Given the description of an element on the screen output the (x, y) to click on. 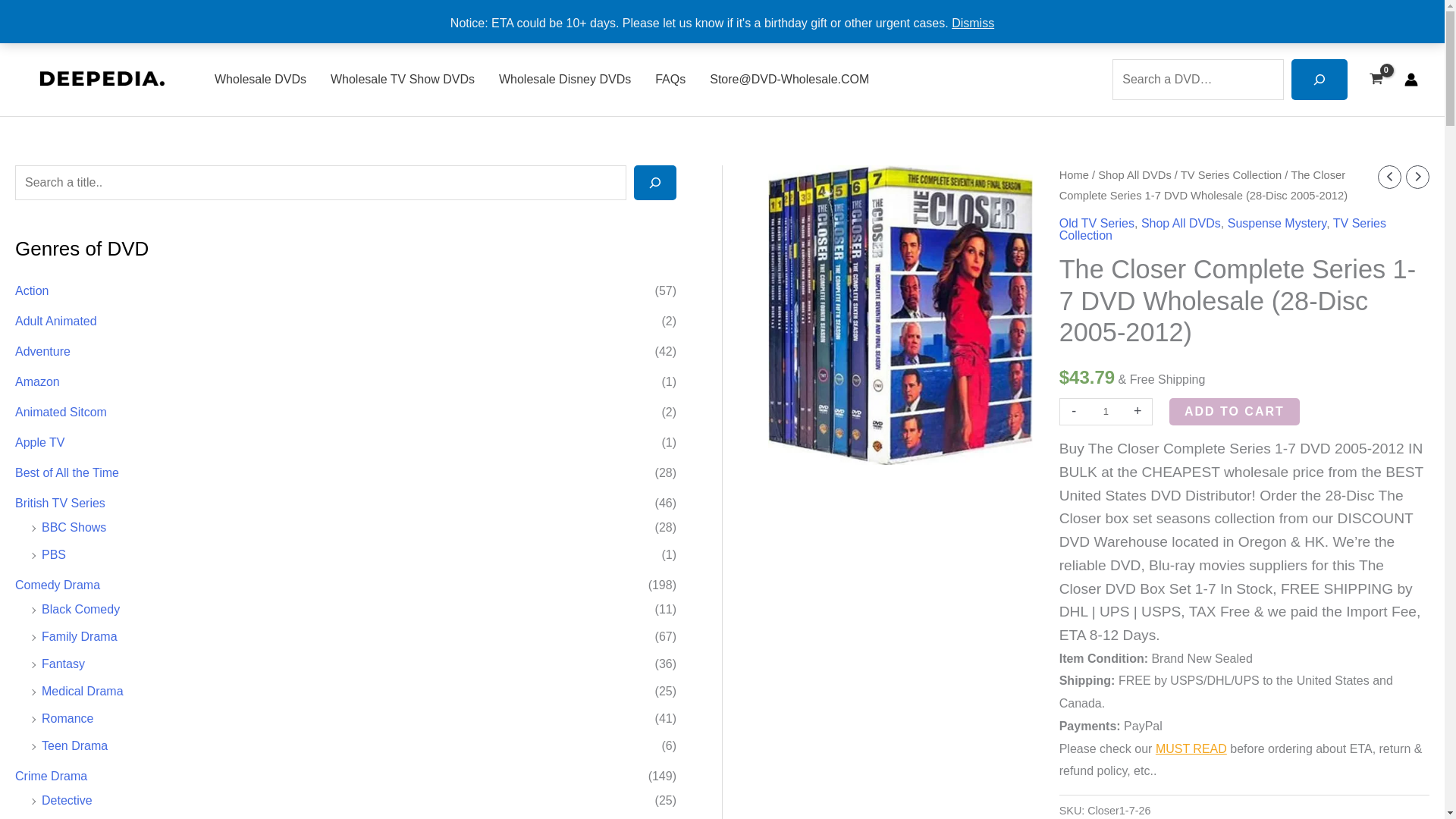
Amazon (36, 381)
PBS (53, 554)
1 (1105, 411)
Black Comedy (80, 608)
Detective (67, 799)
Wholesale TV Show DVDs (402, 79)
Medical Drama (82, 690)
Fantasy (63, 663)
Teen Drama (74, 745)
Apple TV (39, 441)
FAQs (670, 79)
Adventure (41, 350)
Wholesale DVDs (260, 79)
Crime Drama (50, 775)
Best of All the Time (66, 472)
